Given the description of an element on the screen output the (x, y) to click on. 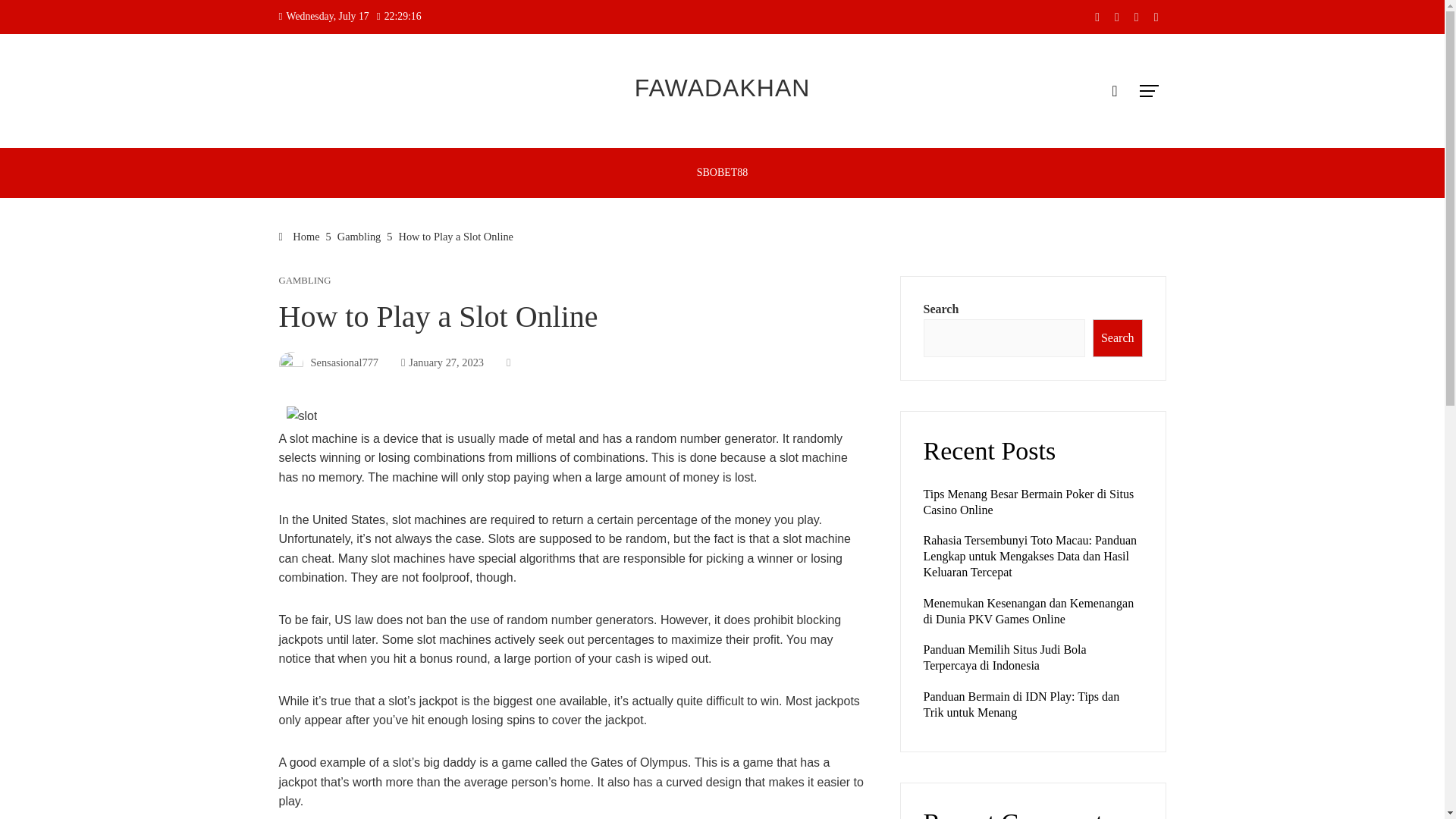
Search (1117, 338)
Panduan Memilih Situs Judi Bola Terpercaya di Indonesia (1004, 656)
Panduan Bermain di IDN Play: Tips dan Trik untuk Menang (1021, 704)
SBOBET88 (722, 173)
Home (299, 236)
Tips Menang Besar Bermain Poker di Situs Casino Online (1028, 501)
Gambling (359, 236)
FAWADAKHAN (722, 87)
GAMBLING (305, 280)
